Given the description of an element on the screen output the (x, y) to click on. 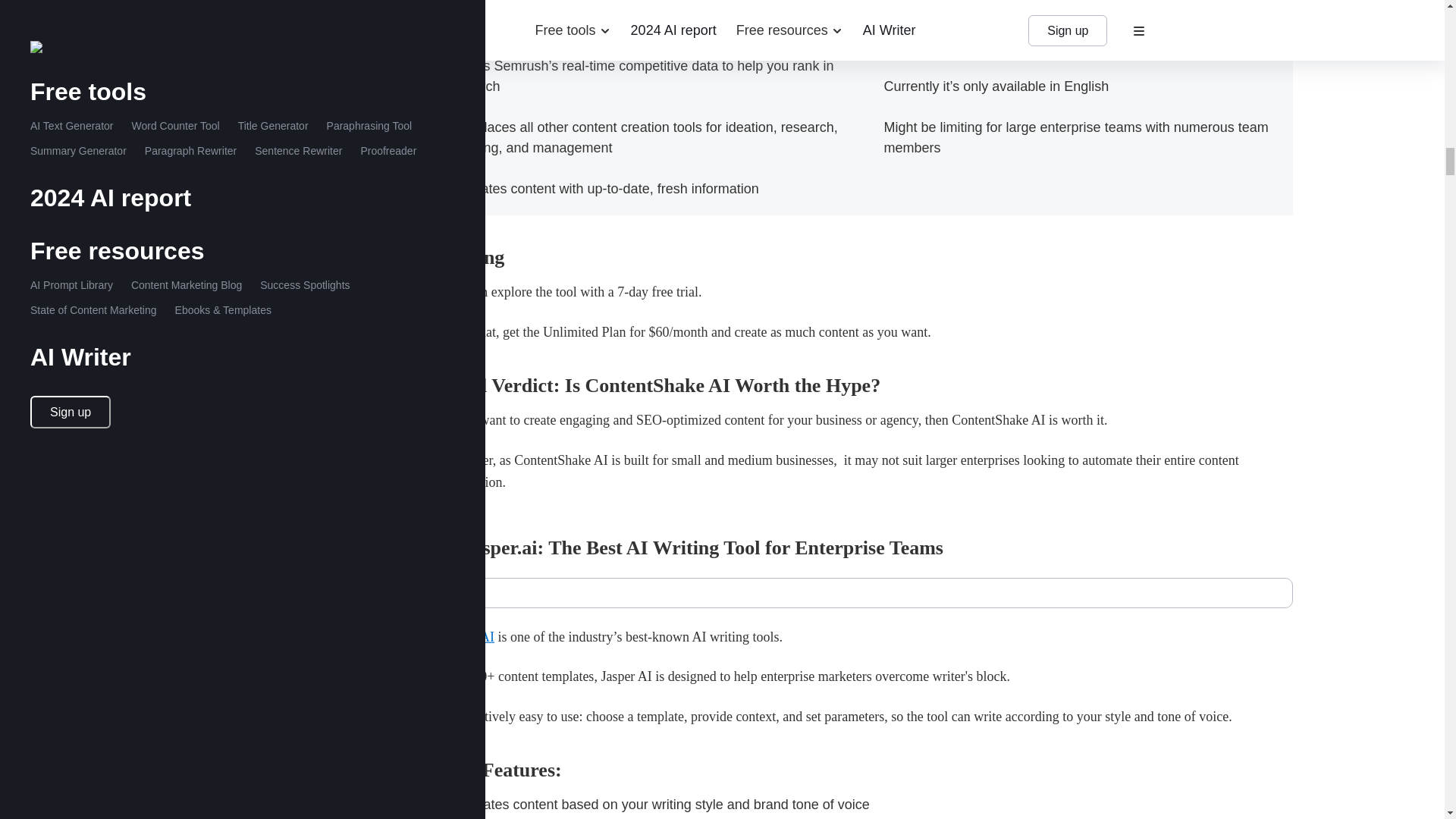
AI social media posts (1071, 35)
Jasper AI (467, 636)
